Given the description of an element on the screen output the (x, y) to click on. 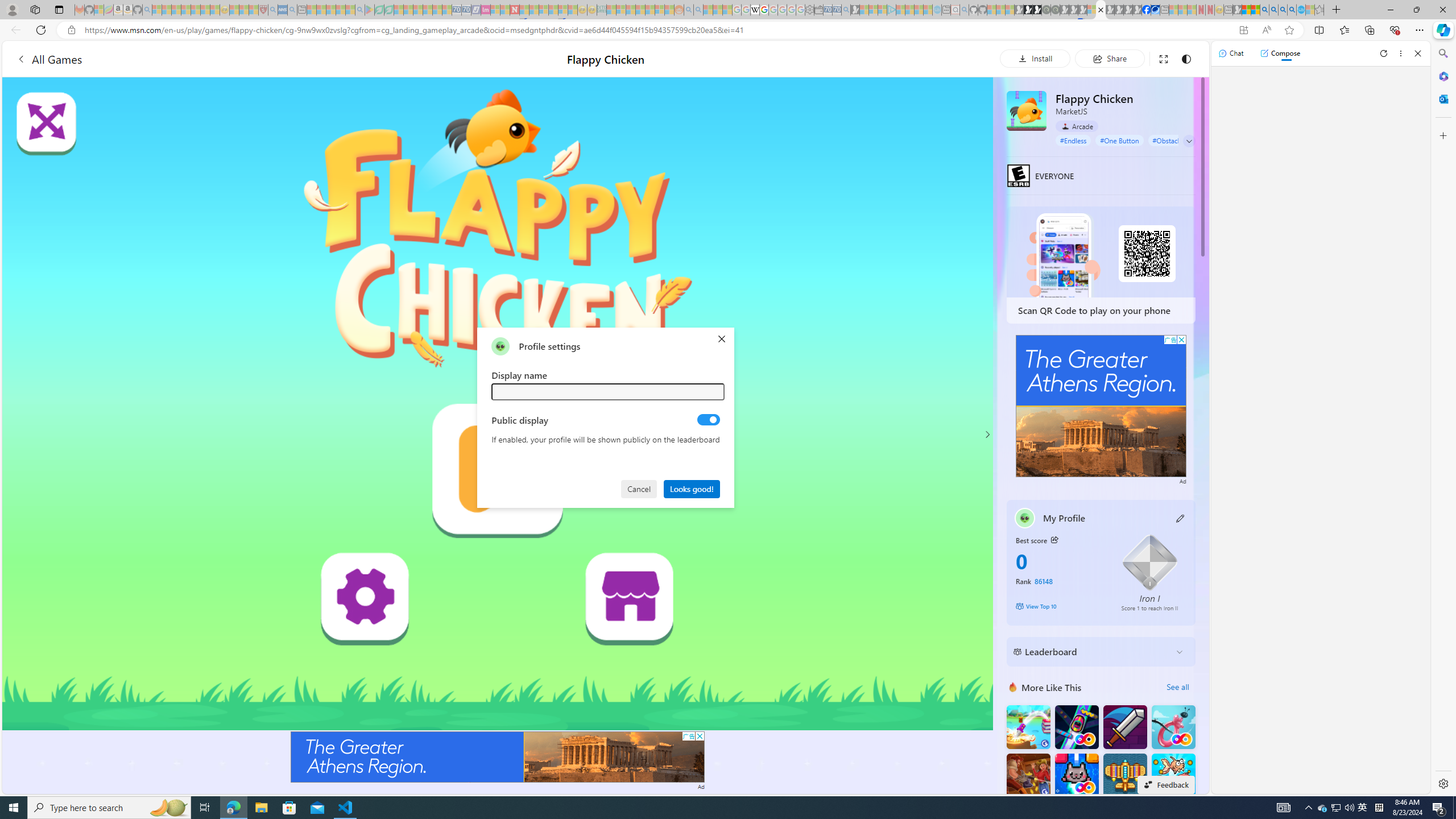
See all (1177, 687)
AirNow.gov (1154, 9)
Knife Flip (1028, 726)
AutomationID: cbb (1181, 339)
Install (1034, 58)
